Given the description of an element on the screen output the (x, y) to click on. 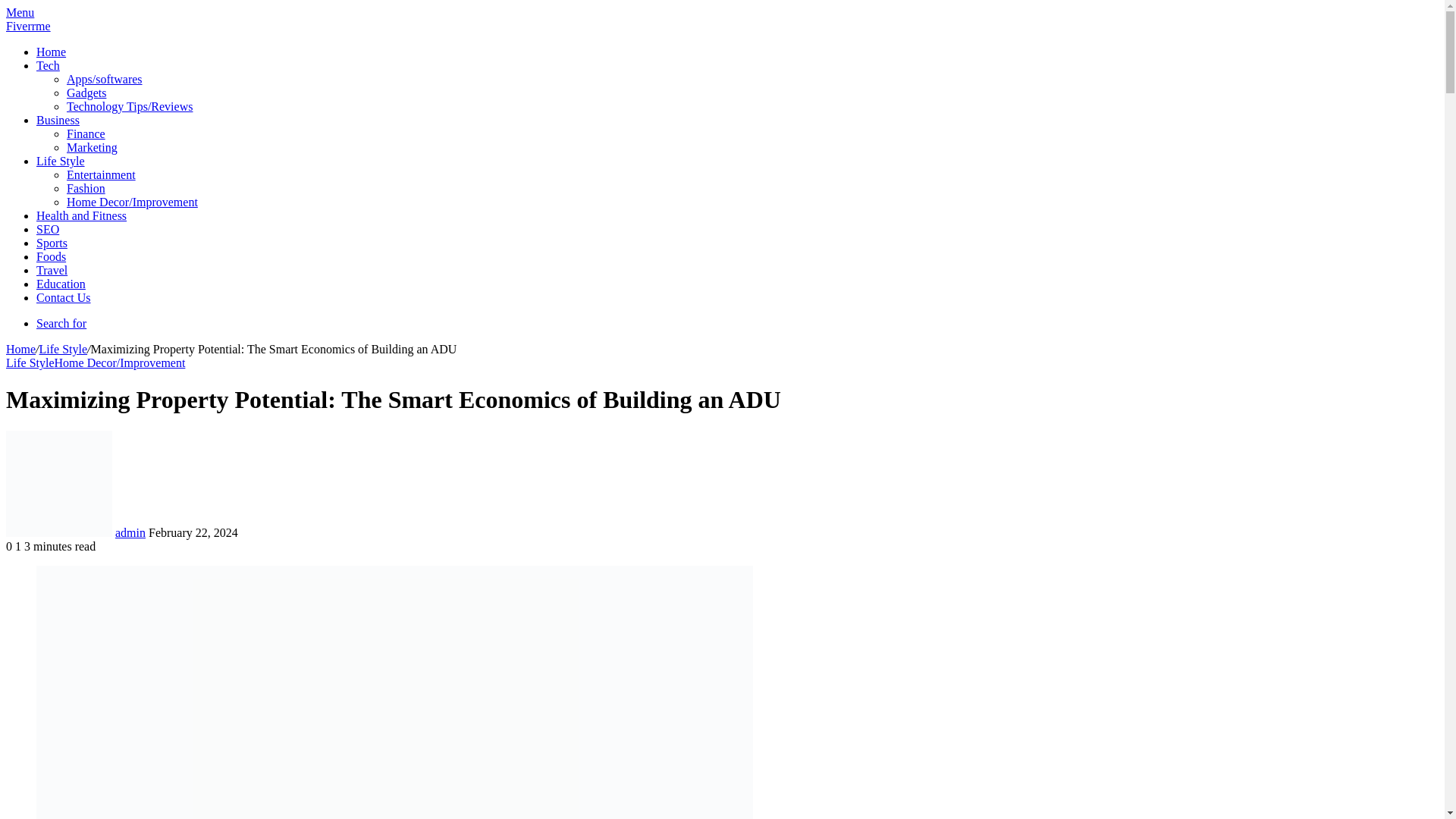
Life Style (30, 362)
Tech (47, 65)
Health and Fitness (81, 215)
Life Style (63, 349)
Marketing (91, 146)
Education (60, 283)
Finance (85, 133)
Travel (51, 269)
Home (19, 349)
Business (58, 119)
Sports (51, 242)
Home (50, 51)
admin (130, 532)
Life Style (60, 160)
Contact Us (63, 297)
